Given the description of an element on the screen output the (x, y) to click on. 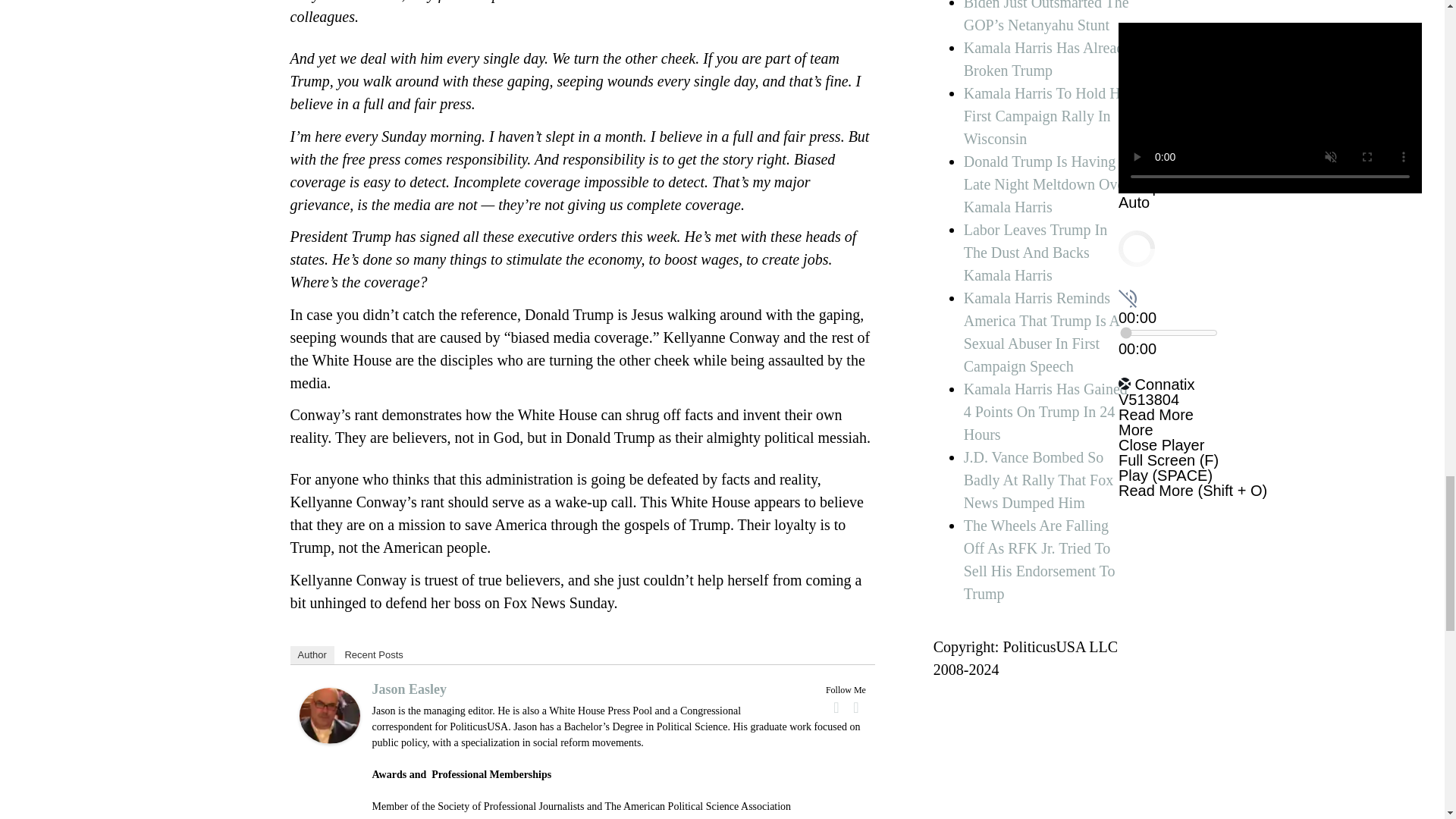
Author (311, 655)
Recent Posts (373, 655)
